Given the description of an element on the screen output the (x, y) to click on. 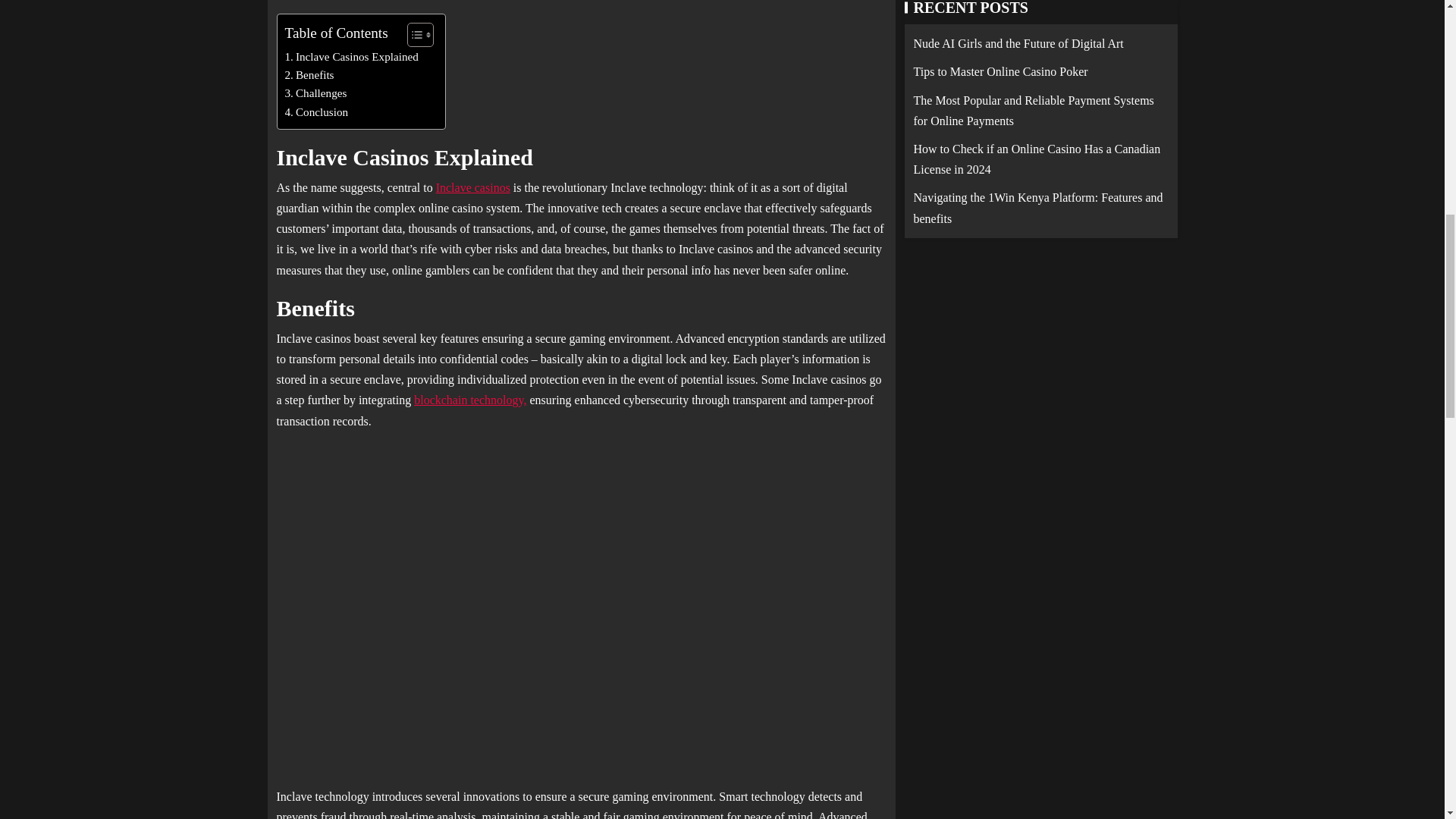
Inclave casinos (473, 187)
Benefits (309, 75)
Inclave Casinos Explained (352, 56)
Benefits (309, 75)
Conclusion (317, 112)
Challenges (316, 93)
blockchain technology, (469, 399)
Inclave Casinos Explained (352, 56)
Challenges (316, 93)
Conclusion (317, 112)
